Given the description of an element on the screen output the (x, y) to click on. 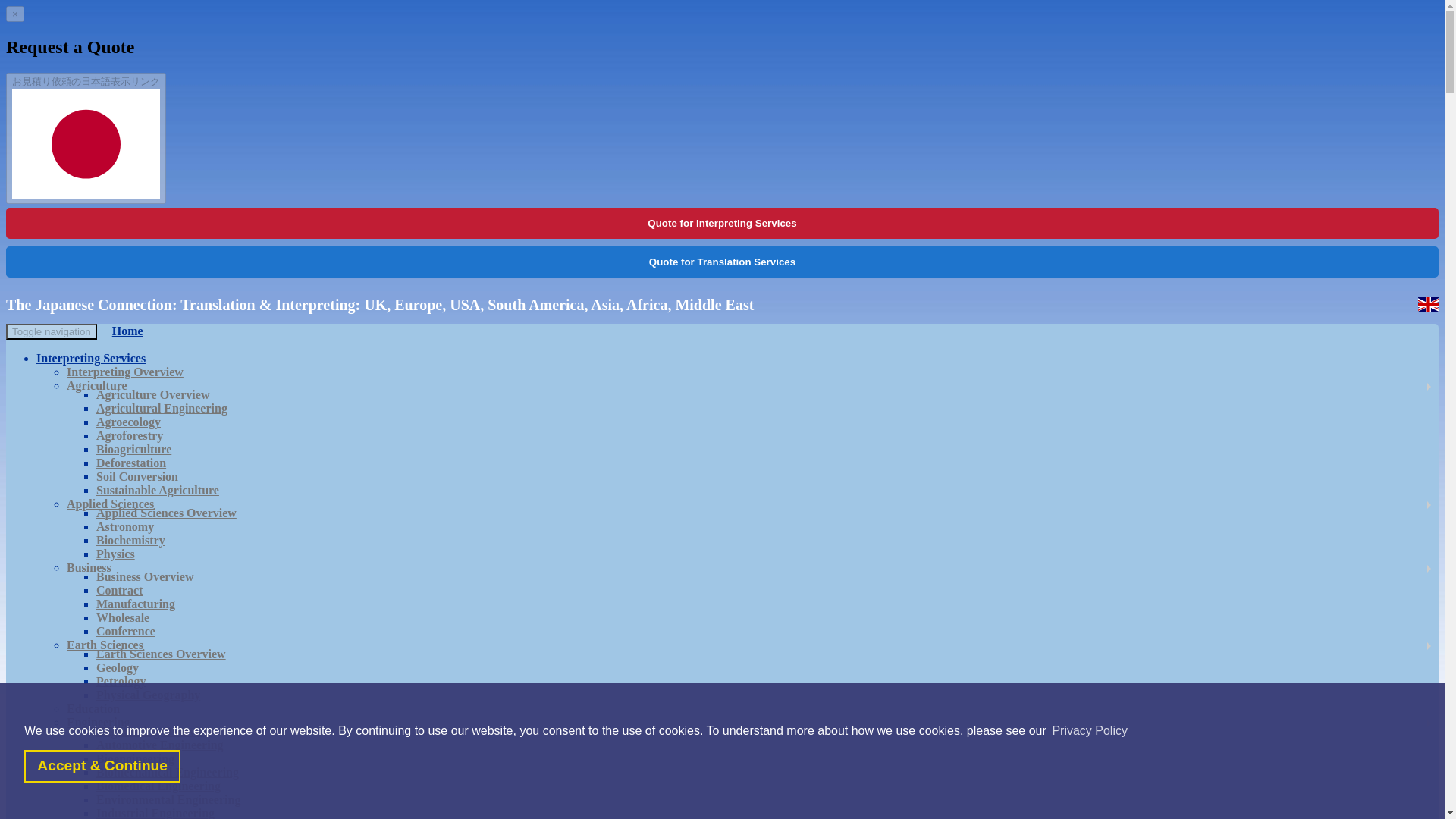
Toggle navigation (51, 331)
Applied Sciences Overview (173, 512)
Agroecology (136, 421)
Soil Conversion (144, 476)
Geology (125, 667)
Contract (126, 590)
Applied Sciences (117, 503)
Engineering Overview (161, 730)
Business Overview (152, 576)
Home (119, 330)
Privacy Policy (1089, 730)
Interpreting Overview (132, 371)
Agricultural Engineering (169, 408)
Biochemistry (138, 540)
Engineering (105, 721)
